Given the description of an element on the screen output the (x, y) to click on. 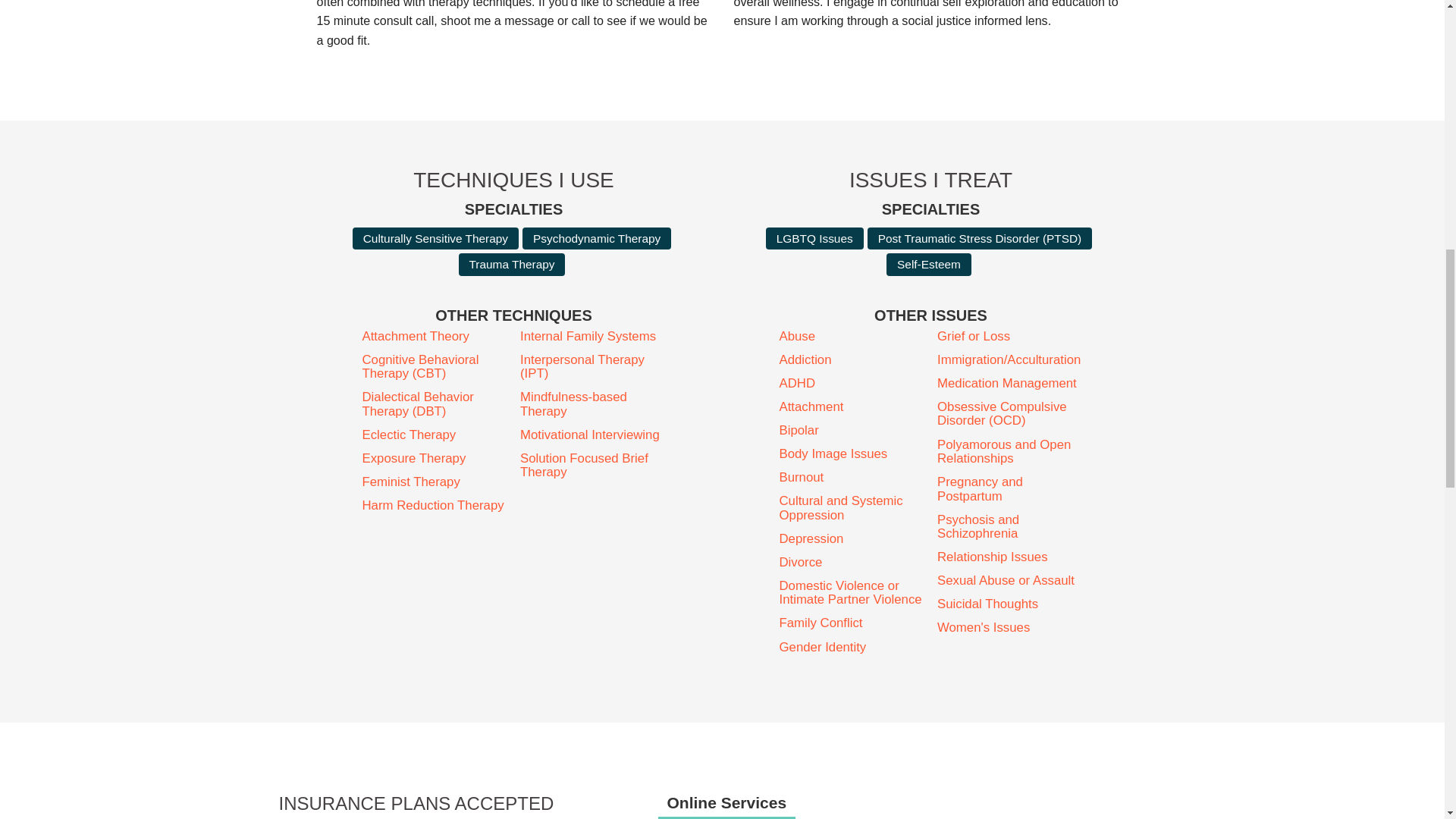
Learn about Trauma Therapy (512, 264)
Psychodynamic Therapy (596, 238)
Learn about Eclectic Therapy (435, 435)
Culturally Sensitive Therapy (435, 238)
Learn about Culturally Sensitive Therapy (435, 238)
Learn about Attachment Theory (435, 336)
Learn about Exposure Therapy (435, 459)
Attachment Theory (435, 336)
Trauma Therapy (512, 264)
Learn about Psychodynamic Therapy (596, 238)
